Given the description of an element on the screen output the (x, y) to click on. 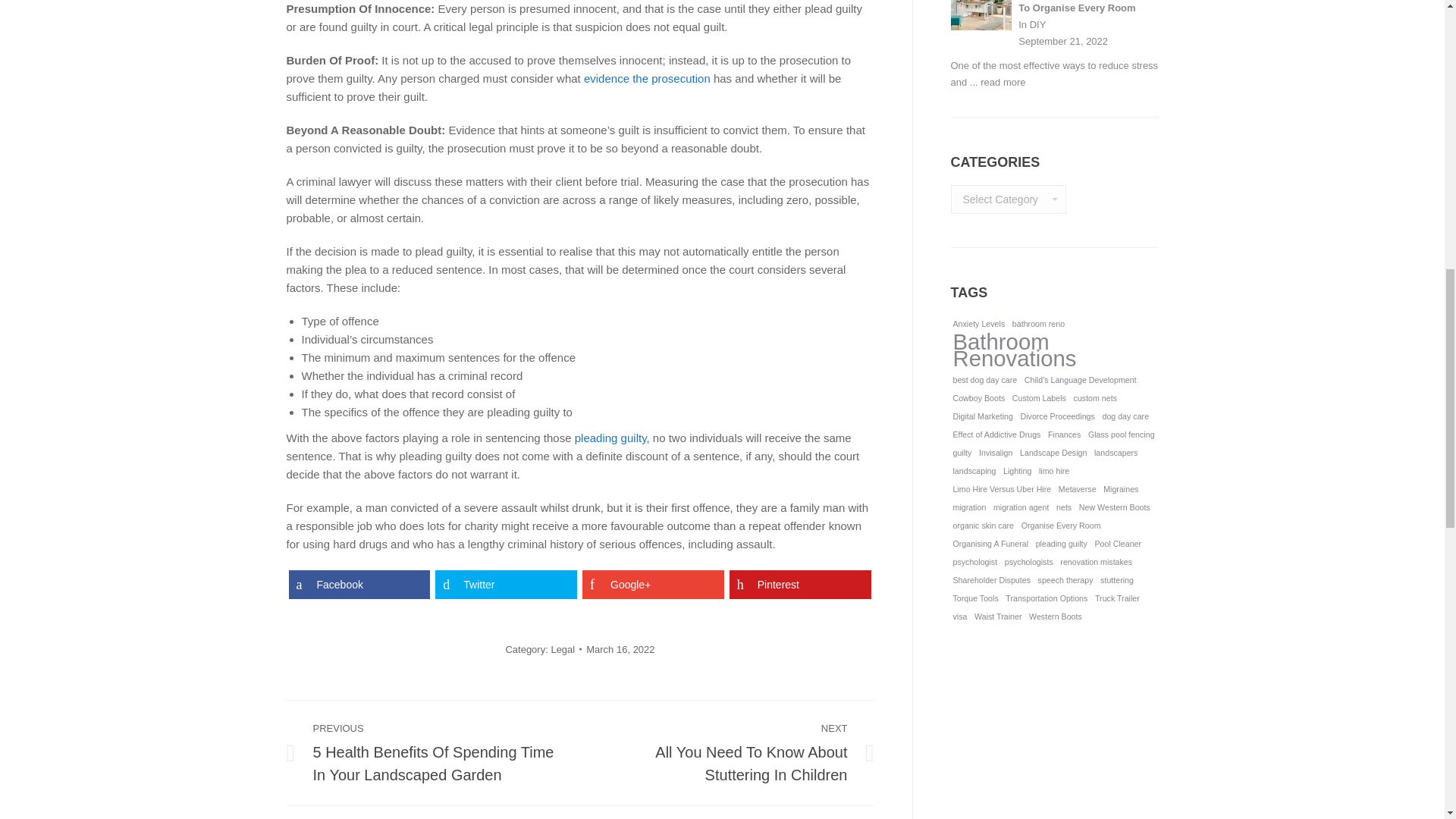
8:10 am (619, 648)
evidence the prosecution (646, 77)
